Given the description of an element on the screen output the (x, y) to click on. 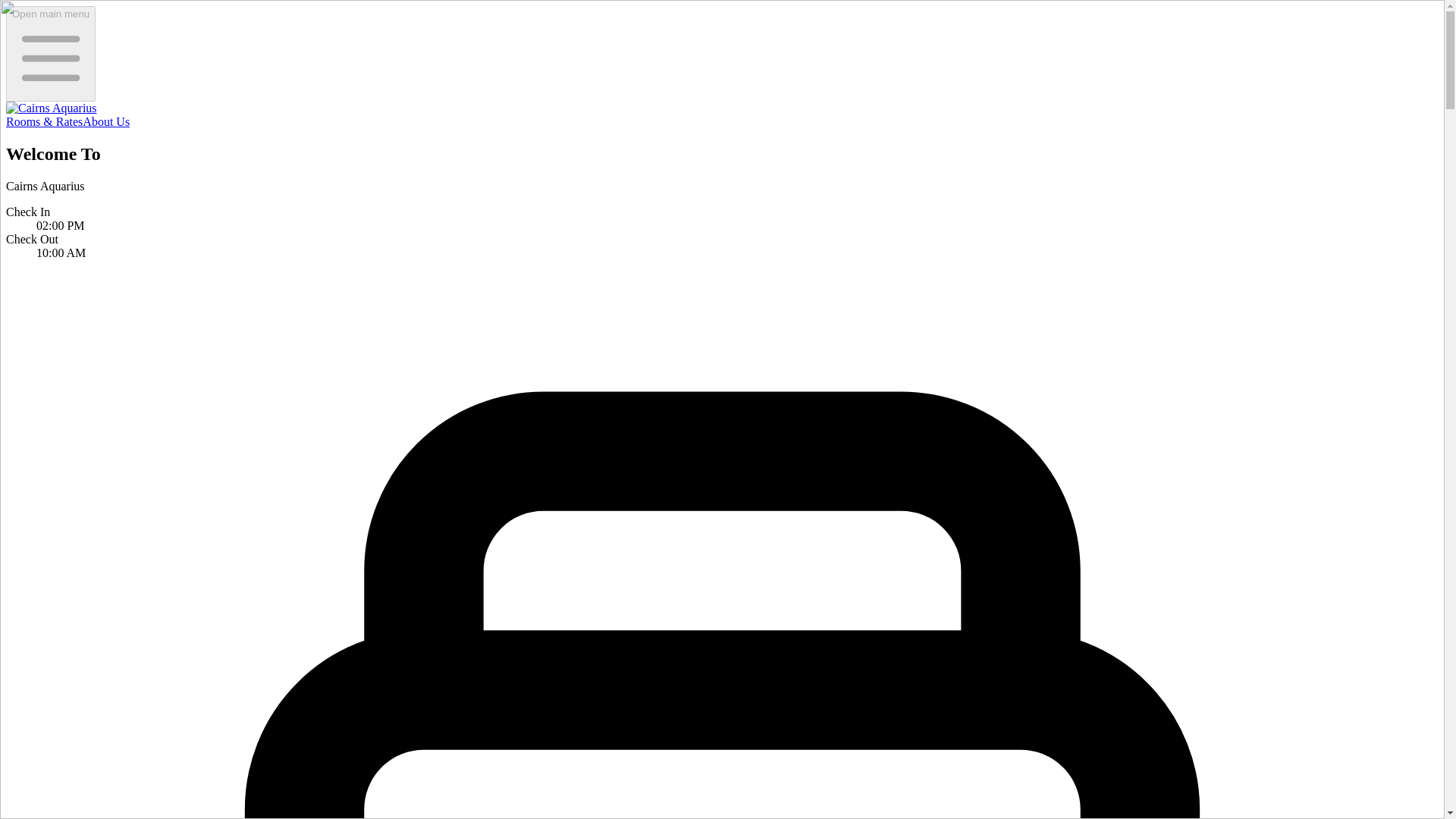
Open main menu (50, 53)
About Us (105, 121)
